Given the description of an element on the screen output the (x, y) to click on. 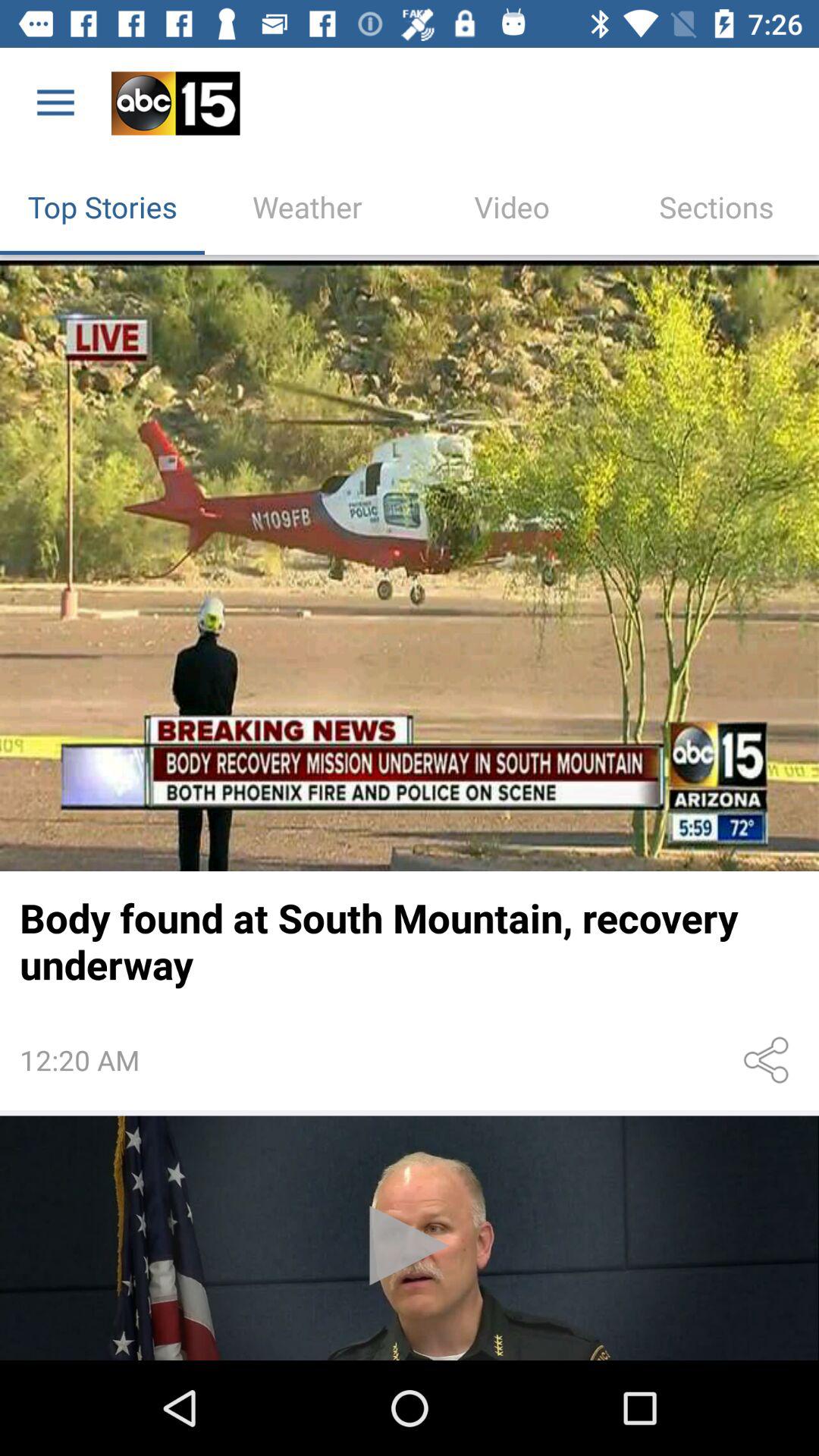
toggle play option (409, 1237)
